Given the description of an element on the screen output the (x, y) to click on. 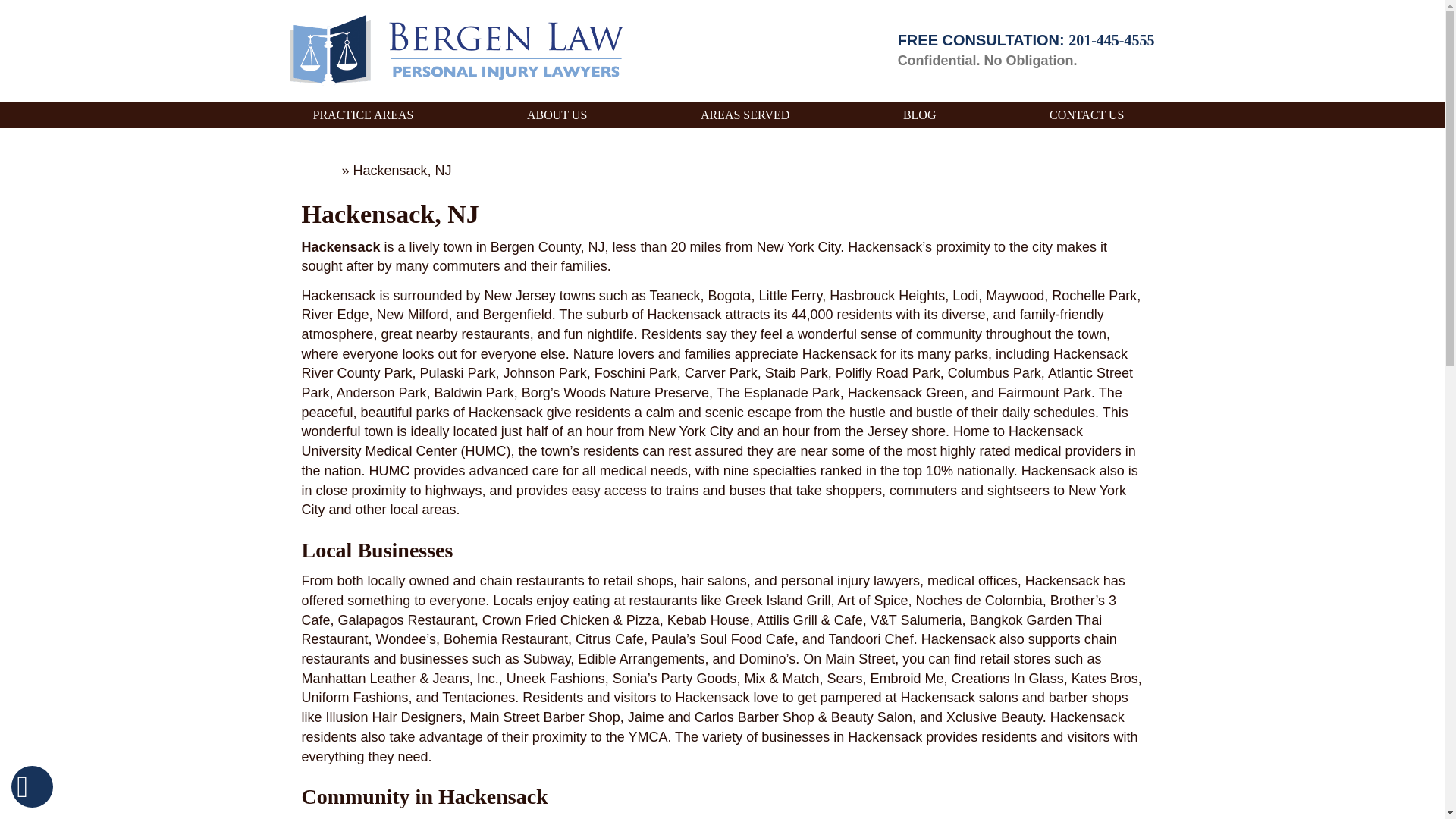
PRACTICE AREAS (363, 114)
201-445-4555 (1111, 39)
Bergen Law (456, 50)
AREAS SERVED (744, 114)
AREAS SERVED (744, 114)
CONTACT US (1086, 114)
ABOUT US (556, 114)
PRACTICE AREAS (363, 114)
About Us (556, 114)
BLOG (919, 114)
